Given the description of an element on the screen output the (x, y) to click on. 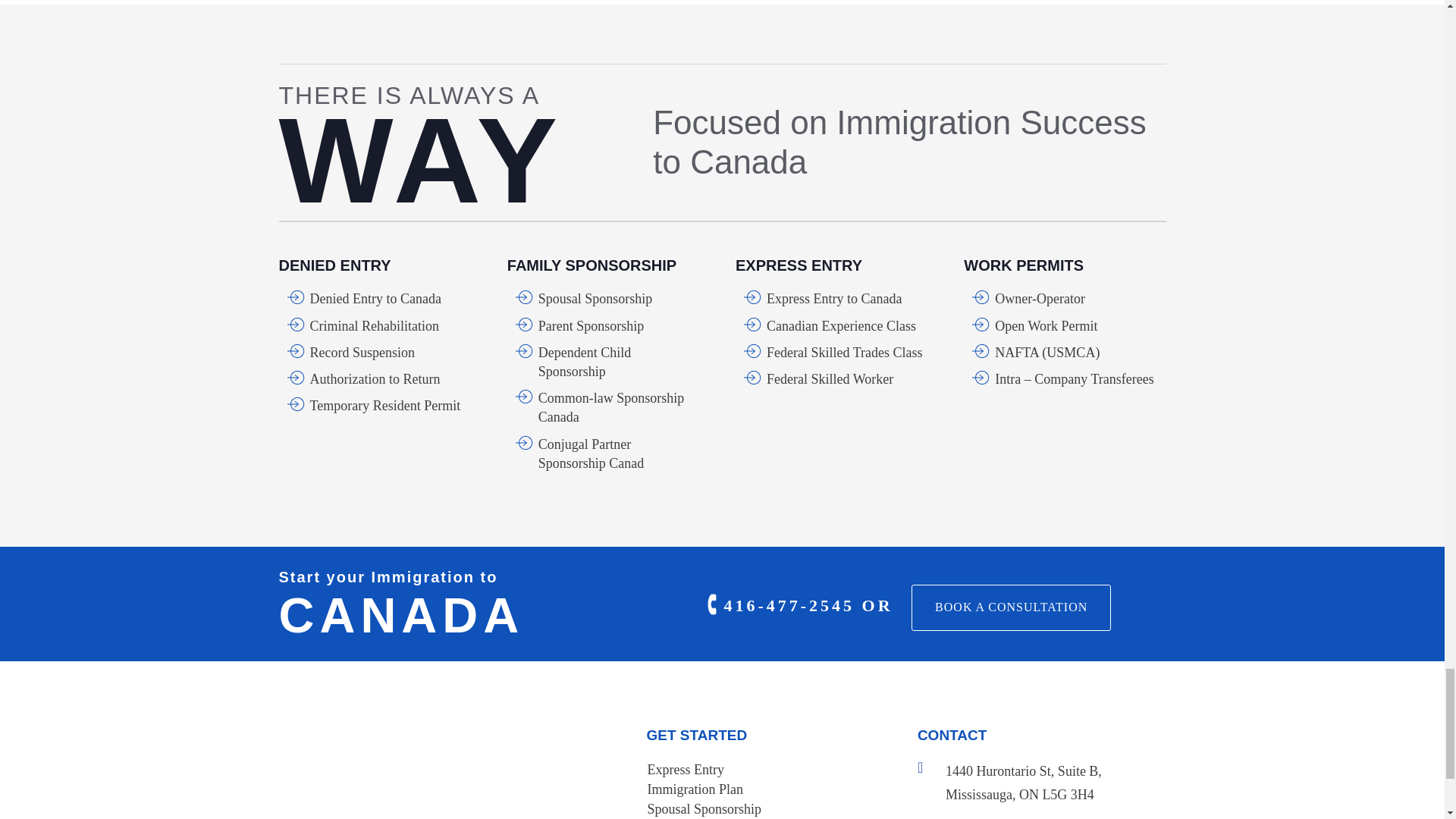
Criminal Rehabilitation (373, 325)
Express Entry to Canada (834, 298)
Temporary Resident Permit (384, 405)
Canadian Experience Class (841, 325)
Parent Sponsorshipa (591, 325)
Denied Entry to Canada (374, 298)
Denied Entry to Canada (374, 298)
Federal Skilled Trades Class (845, 352)
Spousal Sponsorship (595, 298)
Dependent Child Sponsorship (584, 361)
Conjugal Partner Sponsorship Canad (591, 453)
Record Suspension (361, 352)
Authorization to Return (373, 378)
Common-law Sponsorship Canada (611, 407)
